Given the description of an element on the screen output the (x, y) to click on. 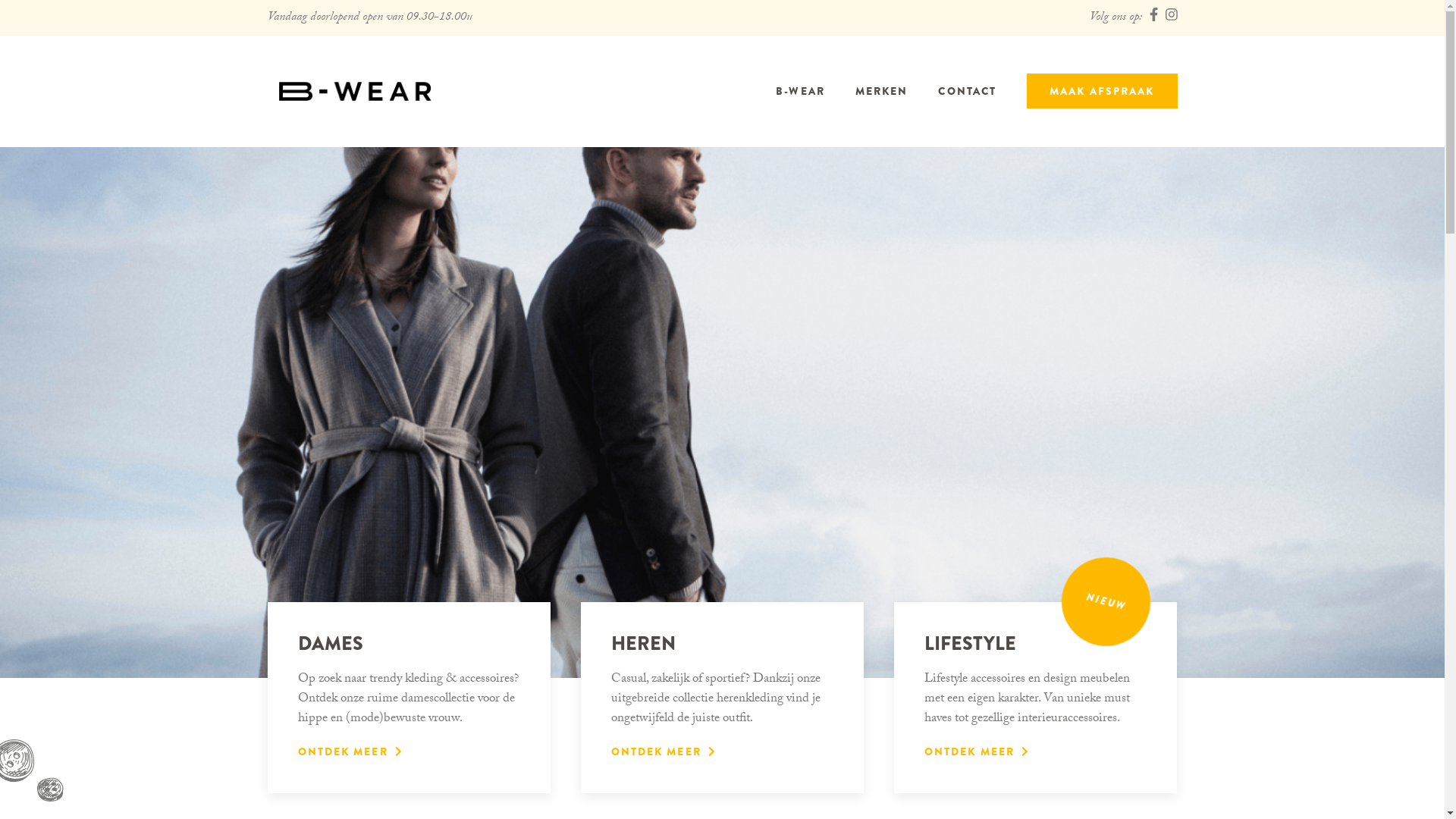
ONTDEK MEER Element type: text (349, 751)
B-WEAR Element type: text (800, 91)
MAAK AFSPRAAK Element type: text (1101, 90)
MERKEN Element type: text (881, 91)
ONTDEK MEER Element type: text (663, 751)
CONTACT Element type: text (967, 91)
ONTDEK MEER Element type: text (976, 751)
